Given the description of an element on the screen output the (x, y) to click on. 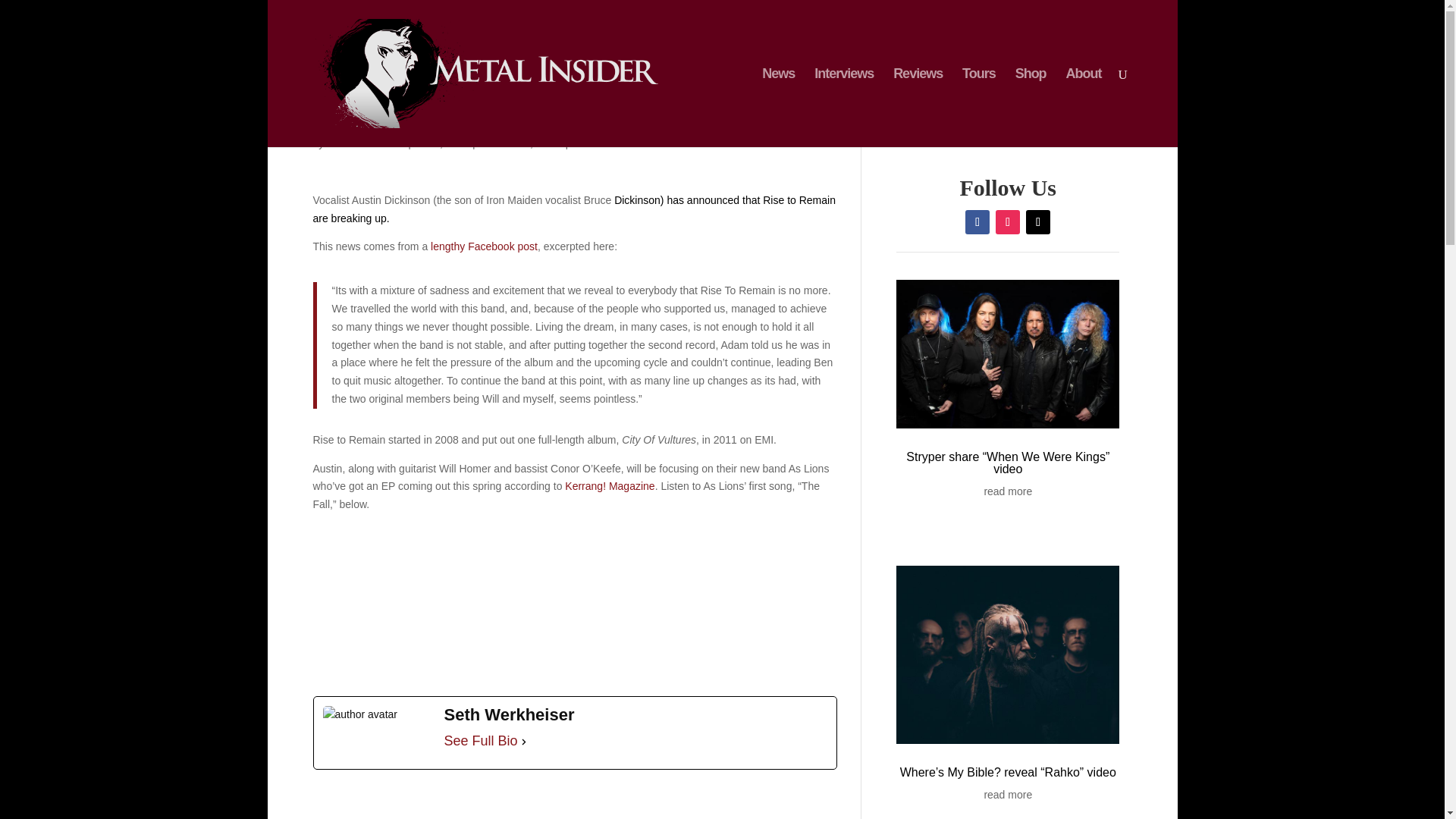
Seth Werkheiser (365, 143)
Posts by Seth Werkheiser (365, 143)
See Full Bio (481, 741)
Kerrang! Magazine (608, 485)
lengthy Facebook post (483, 246)
0 comments (599, 143)
read more (1007, 492)
read more (1007, 795)
New Music (503, 143)
Follow on Facebook (977, 221)
